Given the description of an element on the screen output the (x, y) to click on. 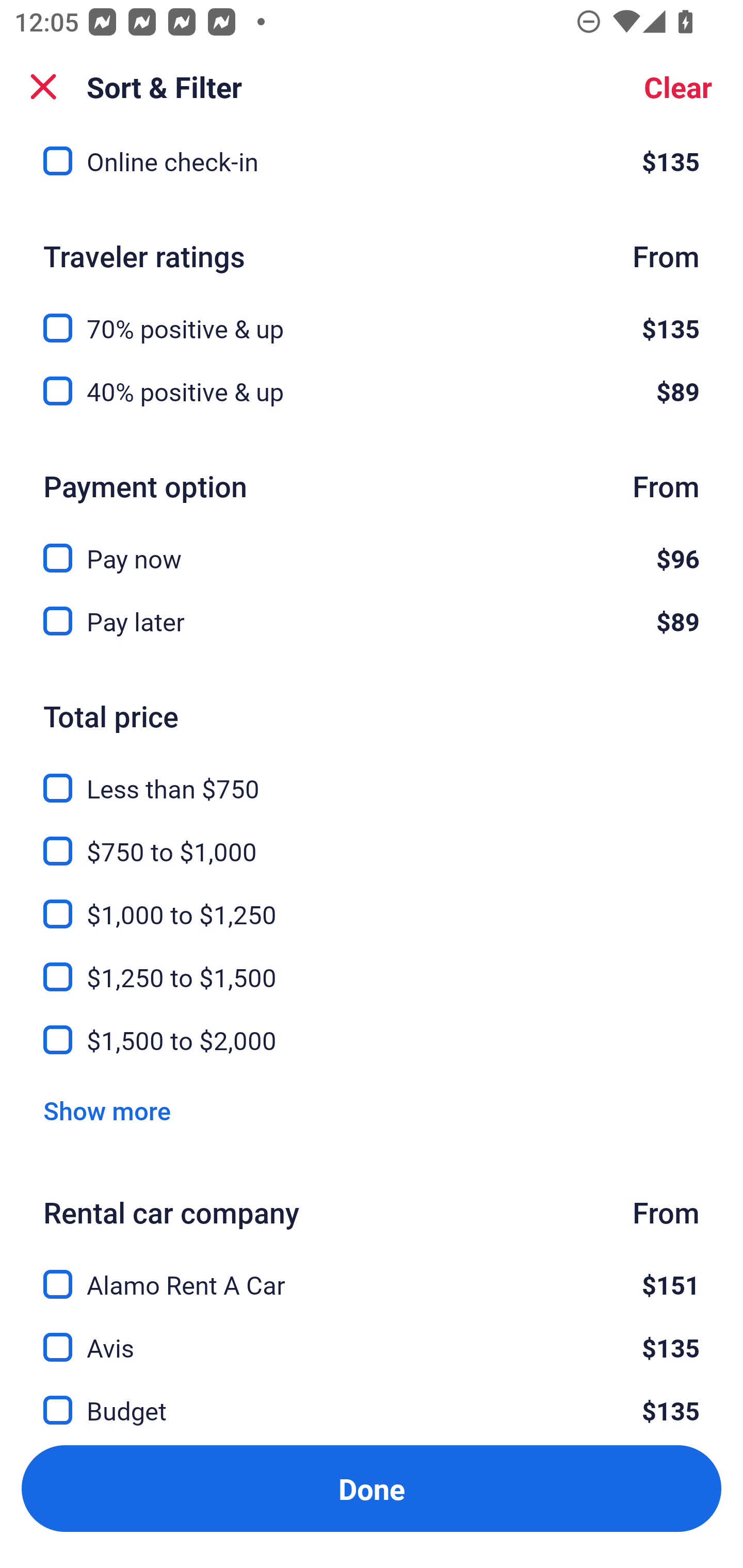
Close Sort and Filter (43, 86)
Clear (677, 86)
Online check-in, $135 Online check-in $135 (371, 167)
70% positive & up, $135 70% positive & up $135 (371, 316)
40% positive & up, $89 40% positive & up $89 (371, 391)
Pay now, $96 Pay now $96 (371, 546)
Pay later, $89 Pay later $89 (371, 621)
Less than $750, Less than $750 (371, 775)
$750 to $1,000, $750 to $1,000 (371, 839)
$1,000 to $1,250, $1,000 to $1,250 (371, 902)
$1,250 to $1,500, $1,250 to $1,500 (371, 965)
$1,500 to $2,000, $1,500 to $2,000 (371, 1040)
Show more Show more Link (106, 1110)
Alamo Rent A Car, $151 Alamo Rent A Car $151 (371, 1272)
Avis, $135 Avis $135 (371, 1335)
Budget, $135 Budget $135 (371, 1398)
Apply and close Sort and Filter Done (371, 1488)
